Given the description of an element on the screen output the (x, y) to click on. 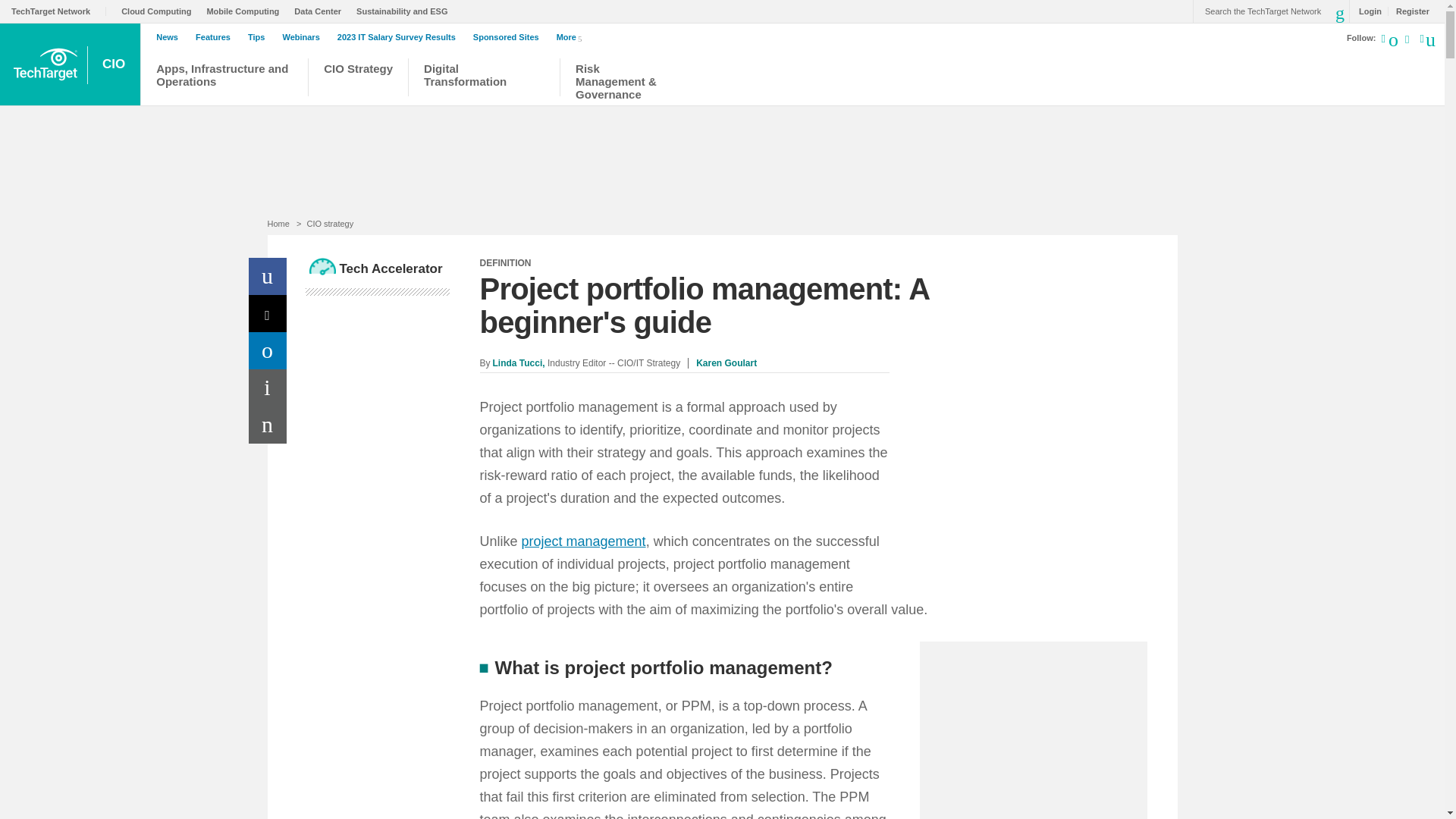
Email a Friend (267, 424)
Sponsored Sites (510, 36)
Tips (259, 36)
CIO strategy (329, 223)
More (572, 36)
Features (216, 36)
Apps, Infrastructure and Operations (223, 79)
Share on LinkedIn (267, 350)
Print This Page (267, 387)
Data Center (321, 10)
